Given the description of an element on the screen output the (x, y) to click on. 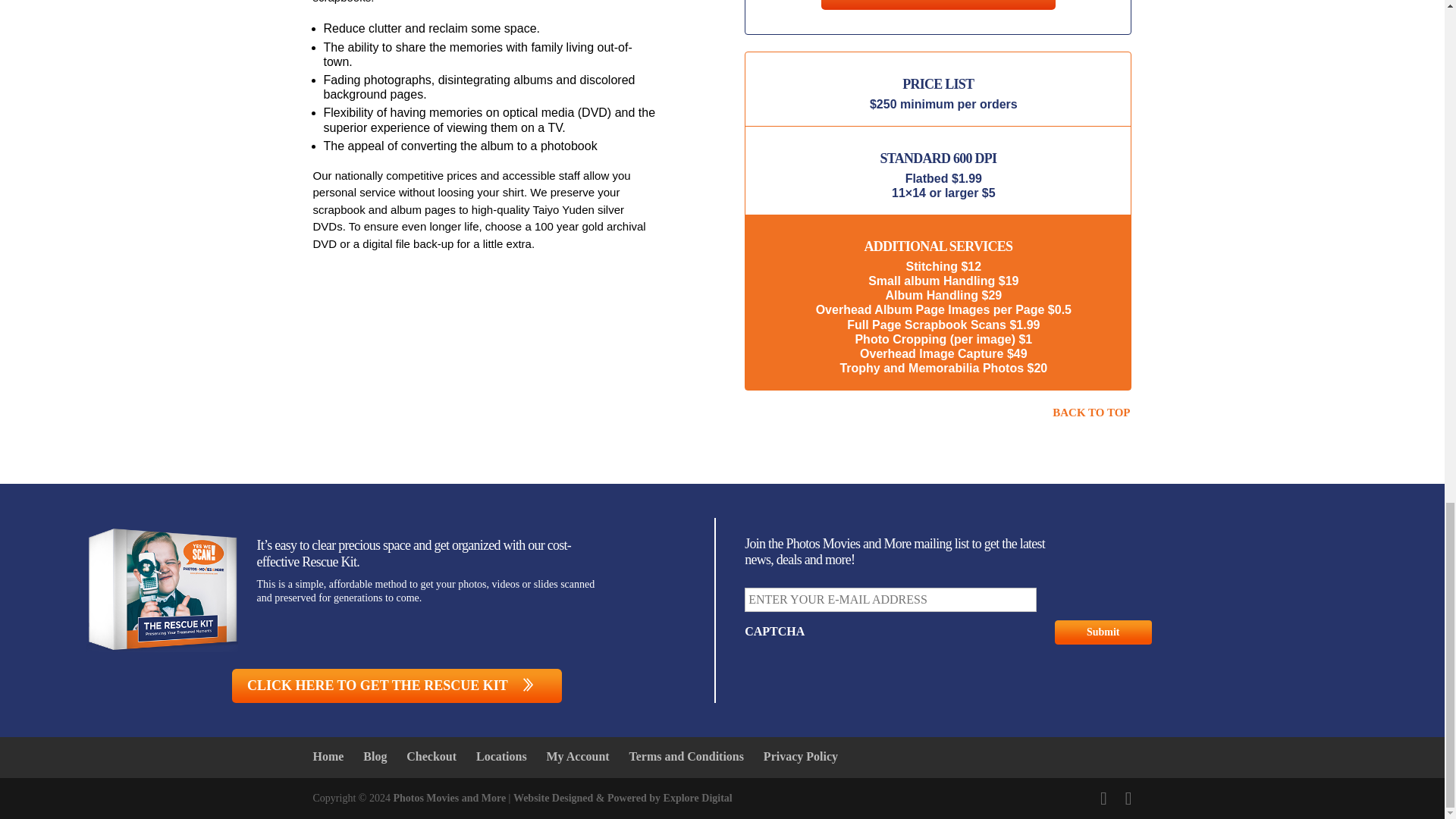
CLICK HERE TO GET THE RESCUE KIT (396, 685)
Submit (1102, 631)
ORDER ONLINE TODAY (938, 4)
Submit (1102, 631)
BACK TO TOP (1090, 413)
